Given the description of an element on the screen output the (x, y) to click on. 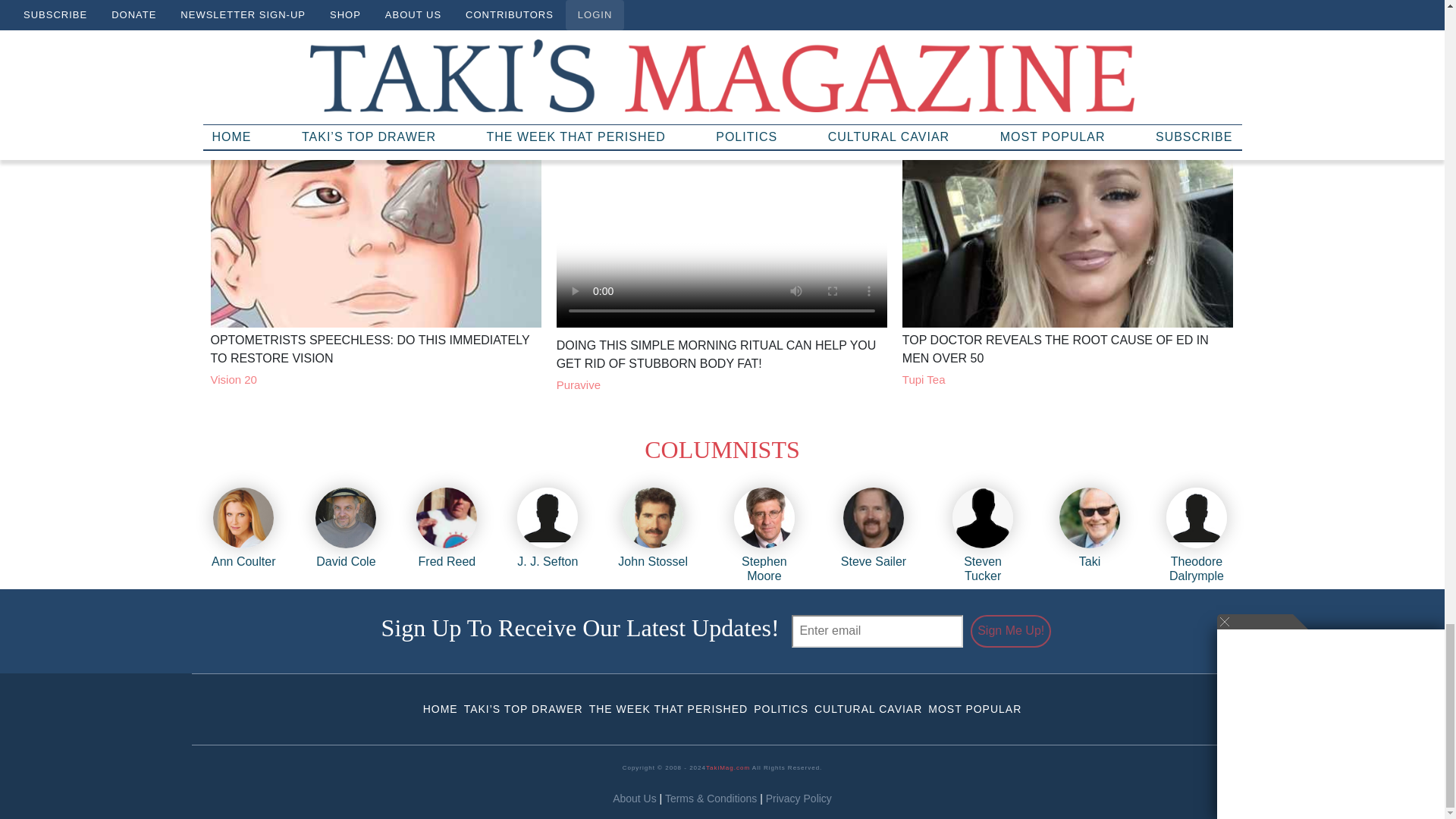
Sign Me Up! (1011, 631)
